Given the description of an element on the screen output the (x, y) to click on. 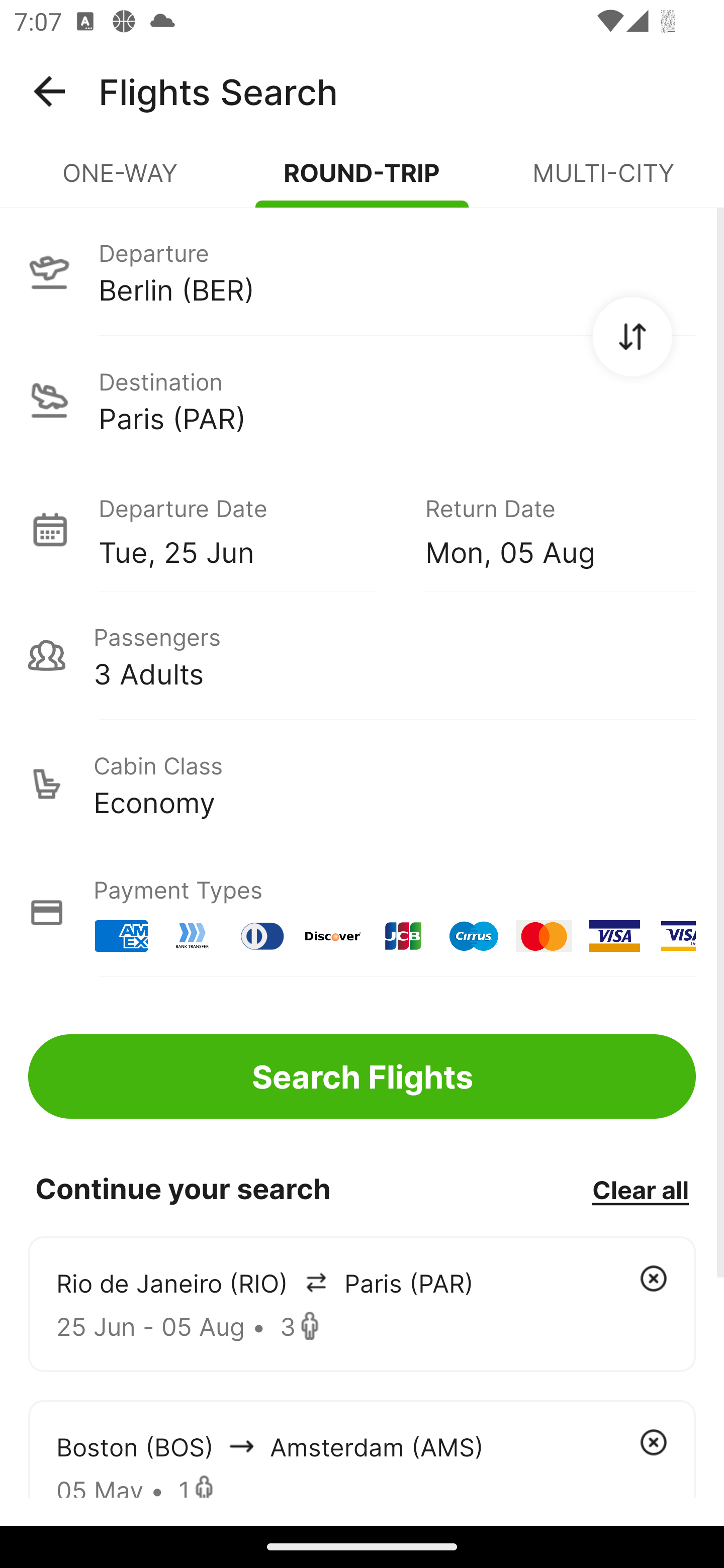
ONE-WAY (120, 180)
ROUND-TRIP (361, 180)
MULTI-CITY (603, 180)
Departure Berlin (BER) (362, 270)
Destination Paris (PAR) (362, 400)
Departure Date Tue, 25 Jun (247, 528)
Return Date Mon, 05 Aug (546, 528)
Passengers 3 Adults (362, 655)
Cabin Class Economy (362, 783)
Payment Types (362, 912)
Search Flights (361, 1075)
Clear all (640, 1189)
